Given the description of an element on the screen output the (x, y) to click on. 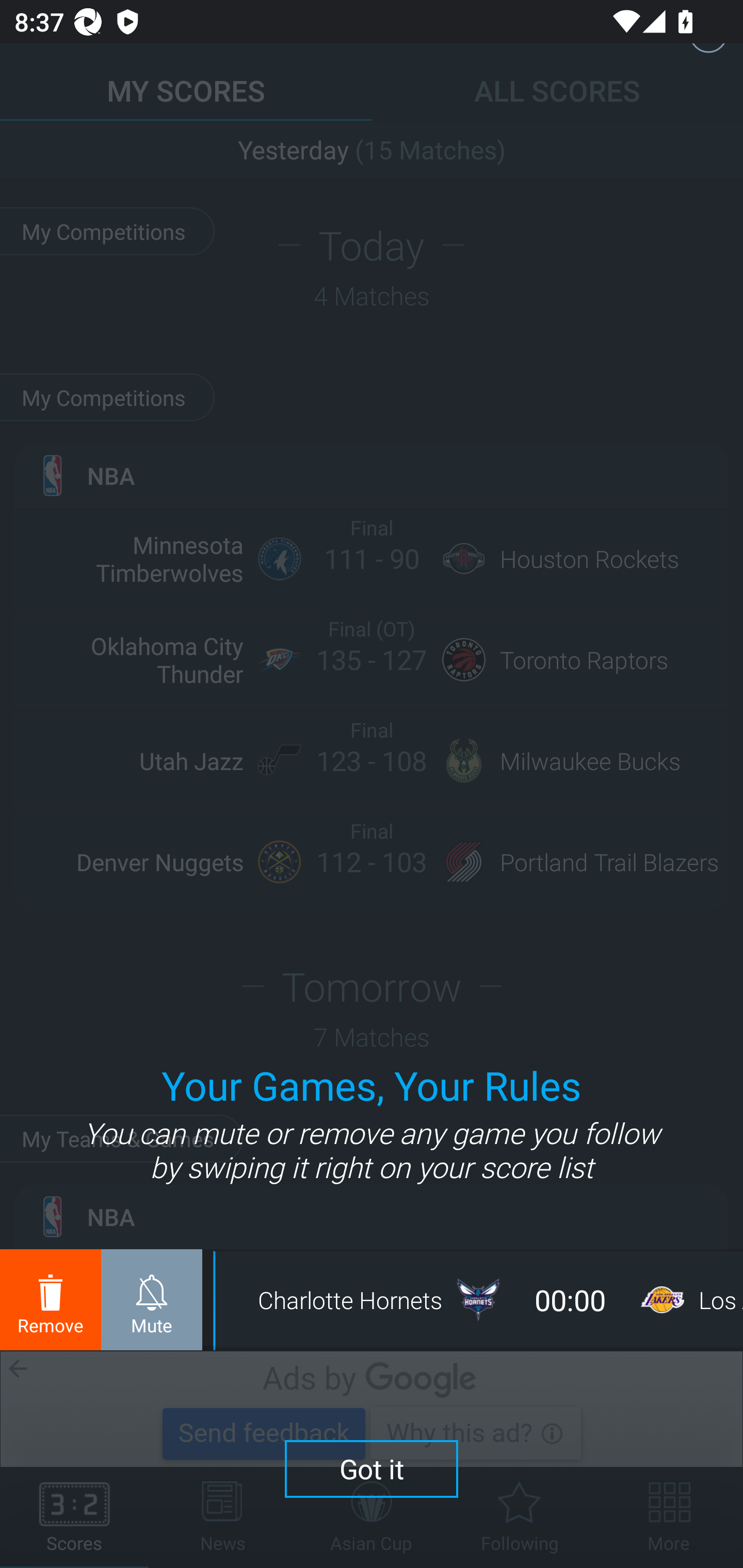
Charlotte Hornets 00:00 Los Angeles Lakers (479, 1299)
Got it (371, 1468)
